Given the description of an element on the screen output the (x, y) to click on. 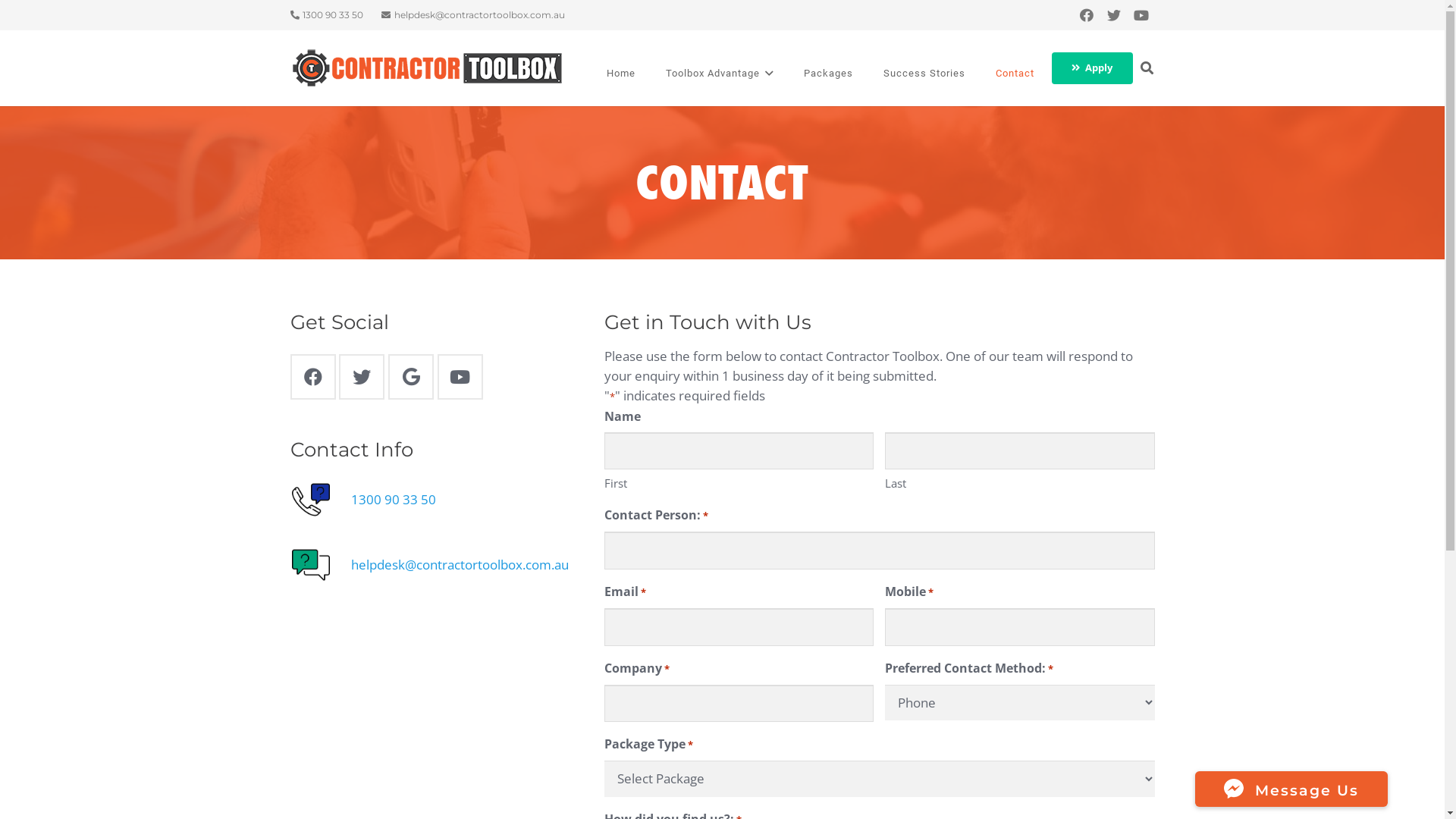
YouTube Element type: hover (460, 376)
1300 90 33 50 Element type: text (392, 499)
Twitter Element type: hover (1112, 14)
Facebook Element type: hover (1085, 14)
Contact Element type: text (1014, 73)
Twitter Element type: hover (361, 376)
Message Us Element type: text (1291, 788)
helpdesk@contractortoolbox.com.au Element type: text (458, 564)
Home Element type: text (620, 73)
Success Stories Element type: text (924, 73)
1300 90 33 50 Element type: text (326, 14)
Toolbox Advantage Element type: text (719, 73)
helpdesk@contractortoolbox.com.au Element type: text (472, 14)
Apply Element type: text (1091, 68)
Google Element type: hover (410, 376)
YouTube Element type: hover (1140, 14)
Facebook Element type: hover (312, 376)
Packages Element type: text (828, 73)
